Given the description of an element on the screen output the (x, y) to click on. 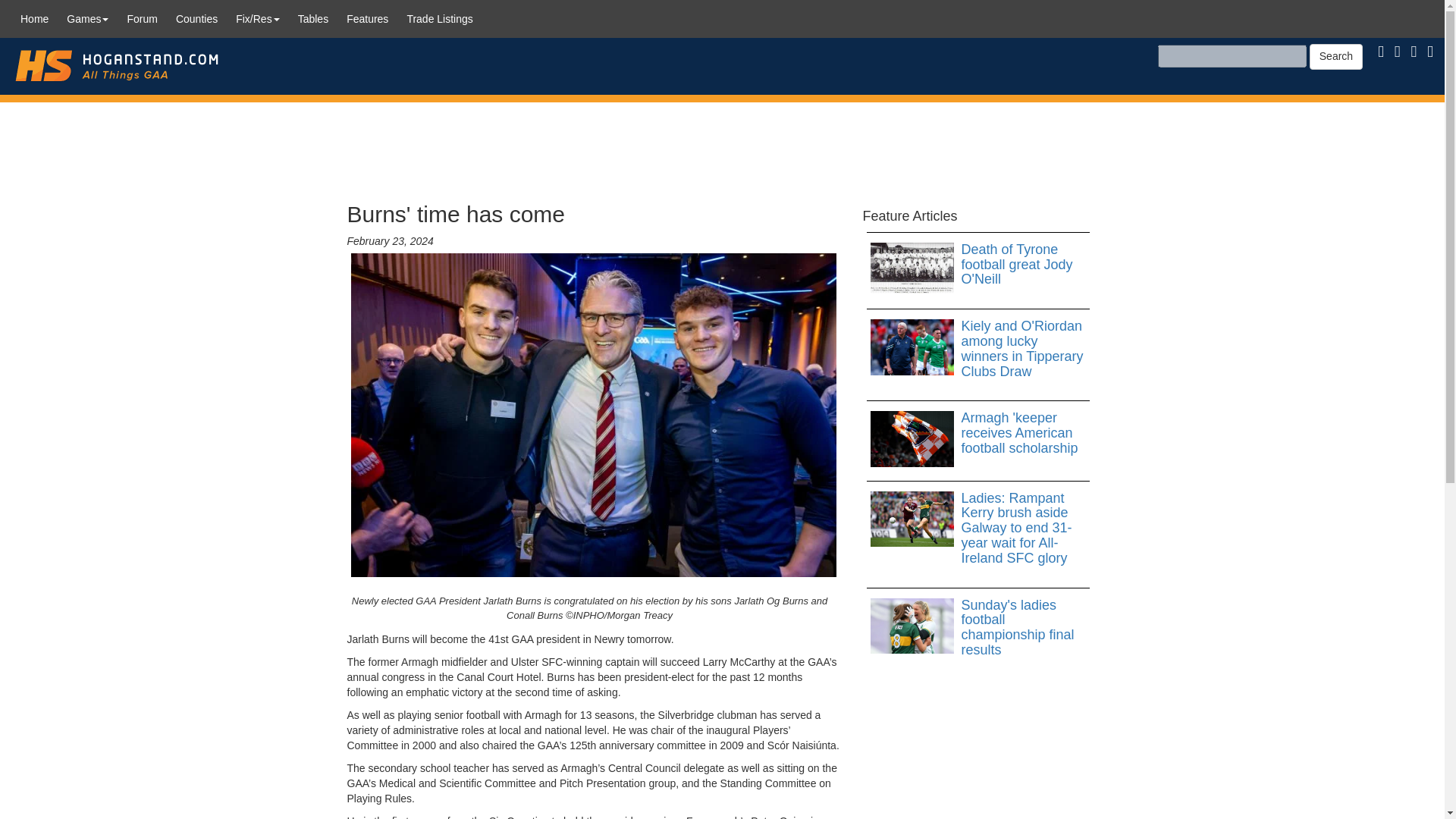
Search (1335, 56)
Trade Listings (439, 18)
Sunday's ladies football championship final results (978, 628)
Armagh 'keeper receives American football scholarship (978, 433)
Home (34, 18)
Games (87, 18)
Features (367, 18)
Death of Tyrone football great Jody O'Neill (978, 264)
Tables (312, 18)
Counties (197, 18)
Forum (141, 18)
